Given the description of an element on the screen output the (x, y) to click on. 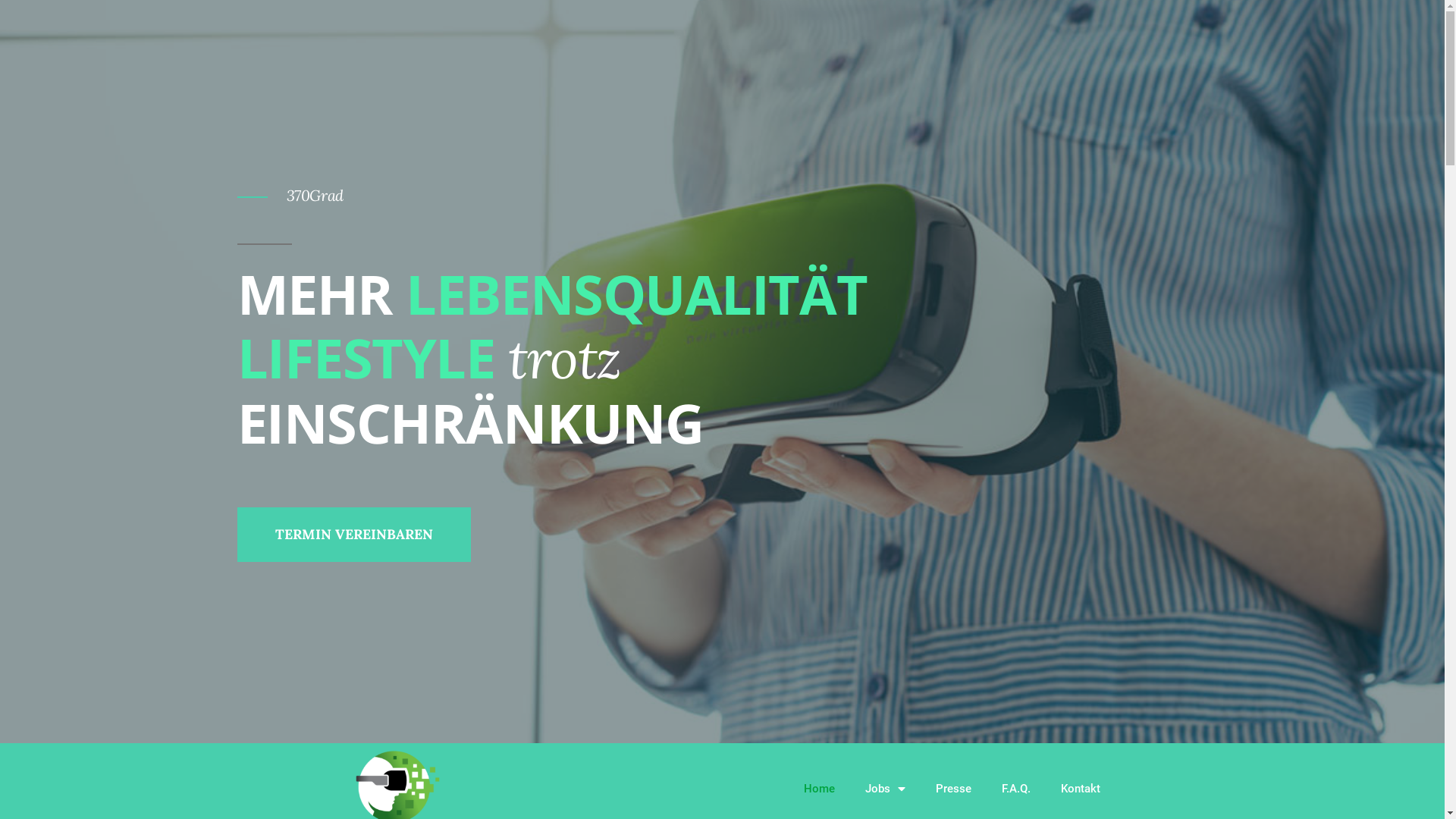
TERMIN VEREINBAREN Element type: text (353, 534)
